Given the description of an element on the screen output the (x, y) to click on. 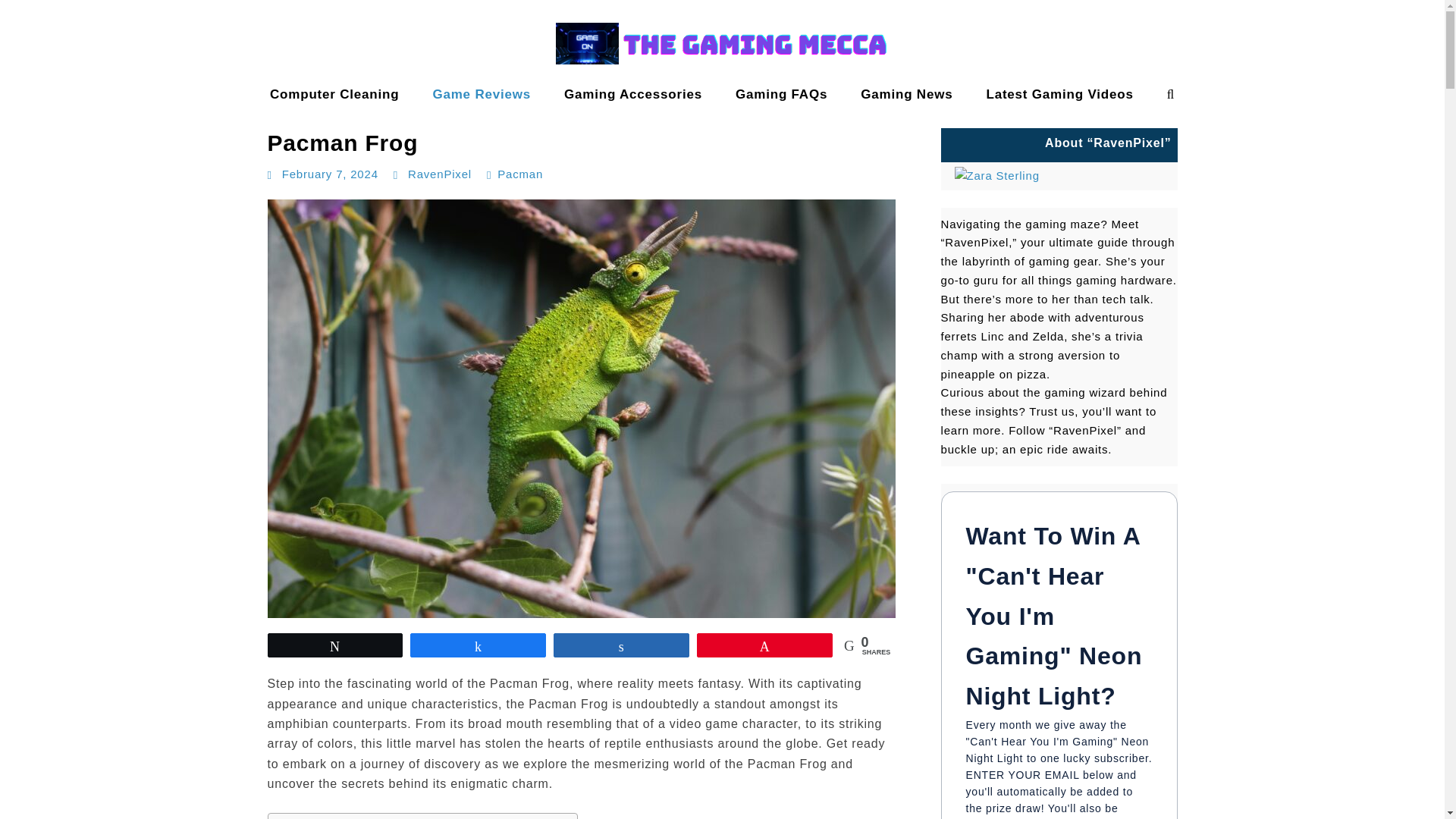
Computer Cleaning (333, 94)
Gaming Accessories (633, 94)
Pacman (520, 173)
Gaming FAQs (781, 94)
Gaming News (906, 94)
Game Reviews (480, 94)
RavenPixel (439, 173)
Latest Gaming Videos (1059, 94)
The Gaming Mecca (74, 109)
